Given the description of an element on the screen output the (x, y) to click on. 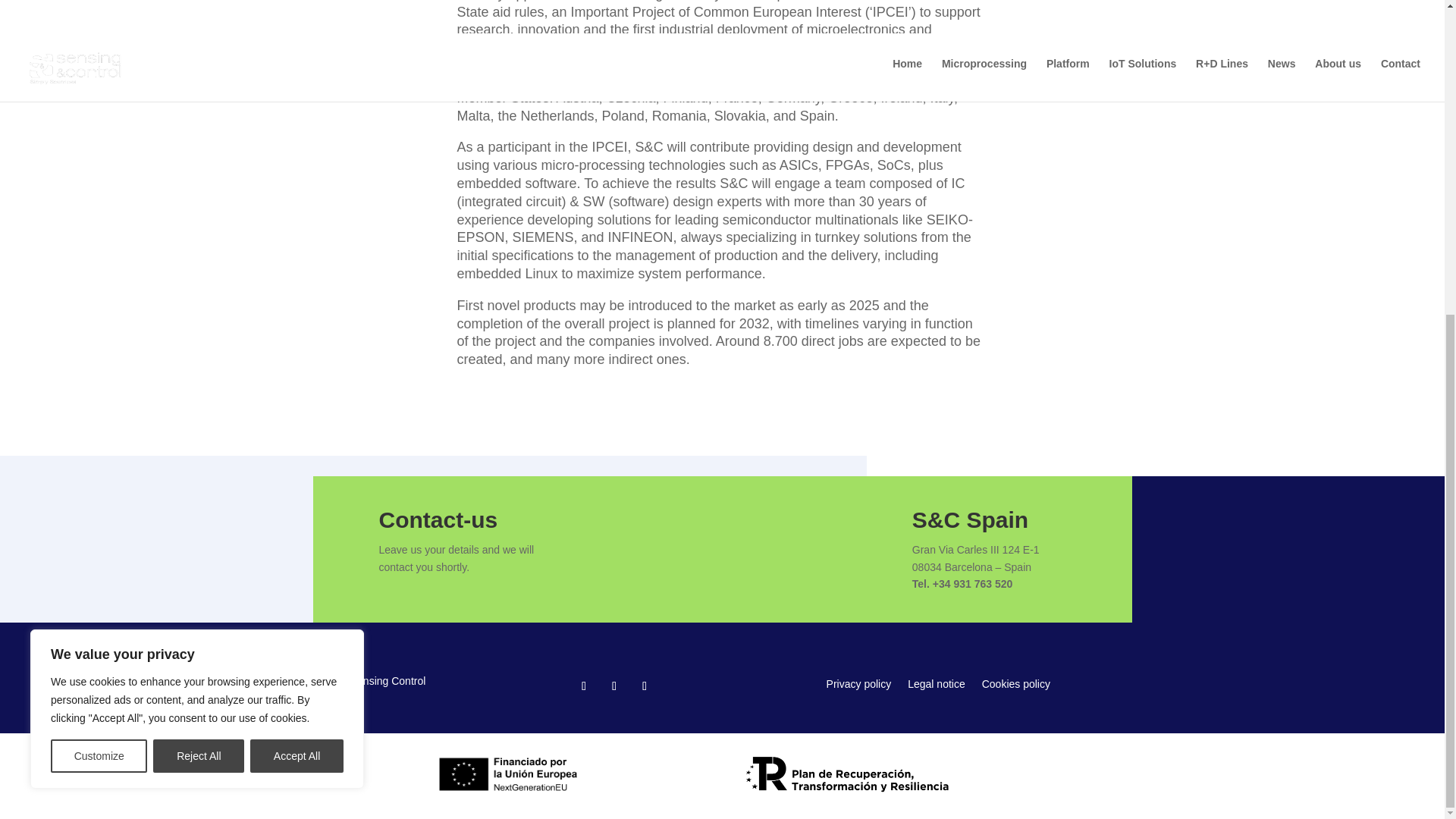
Reject All (198, 251)
Customize (98, 251)
Follow on Youtube (614, 686)
Financiado por la Union Europea (508, 774)
Accept All (296, 251)
Follow on X (643, 686)
Follow on LinkedIn (583, 686)
